Given the description of an element on the screen output the (x, y) to click on. 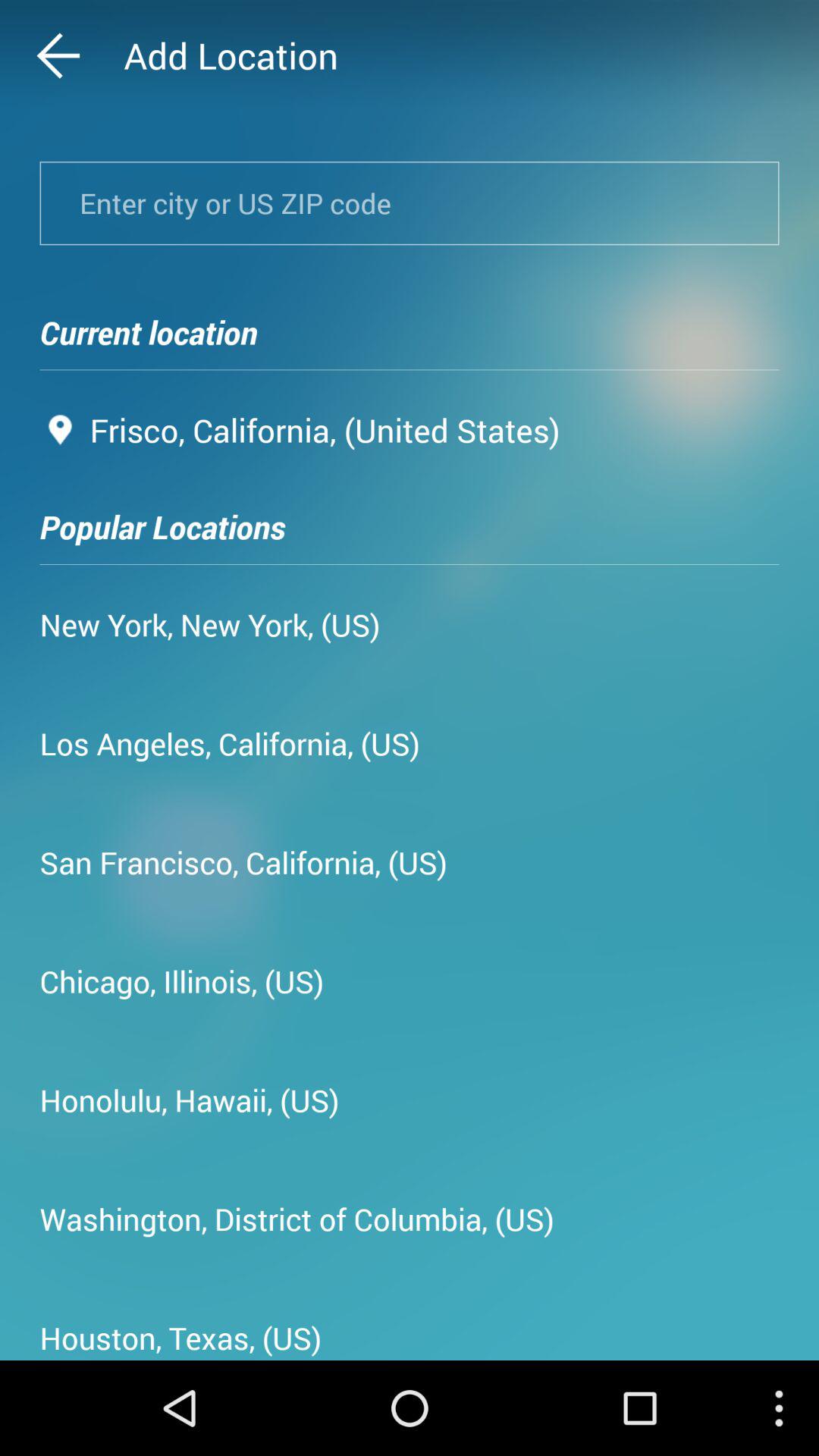
click the icon at the bottom (297, 1218)
